Given the description of an element on the screen output the (x, y) to click on. 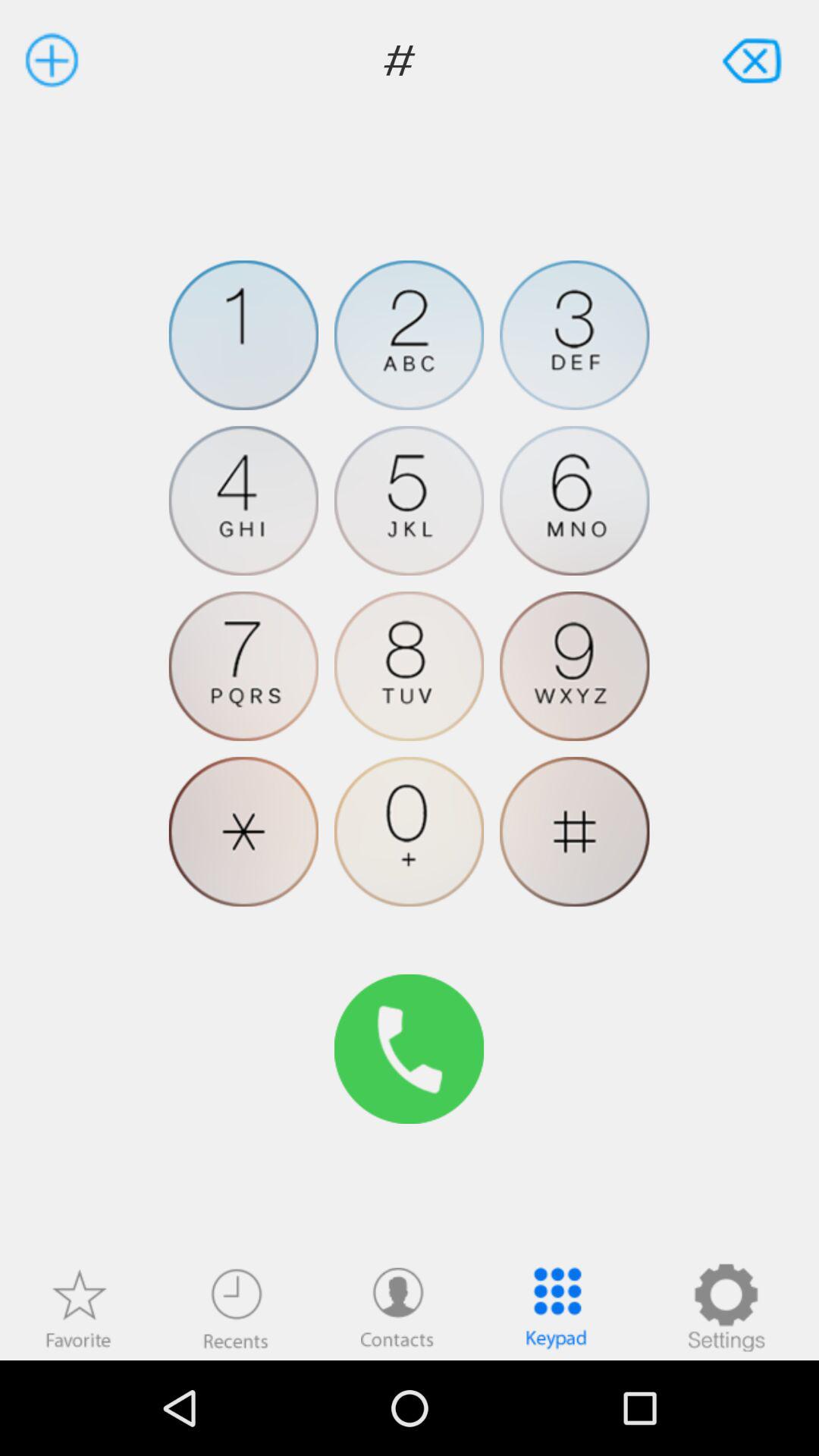
insert 0 (409, 831)
